Given the description of an element on the screen output the (x, y) to click on. 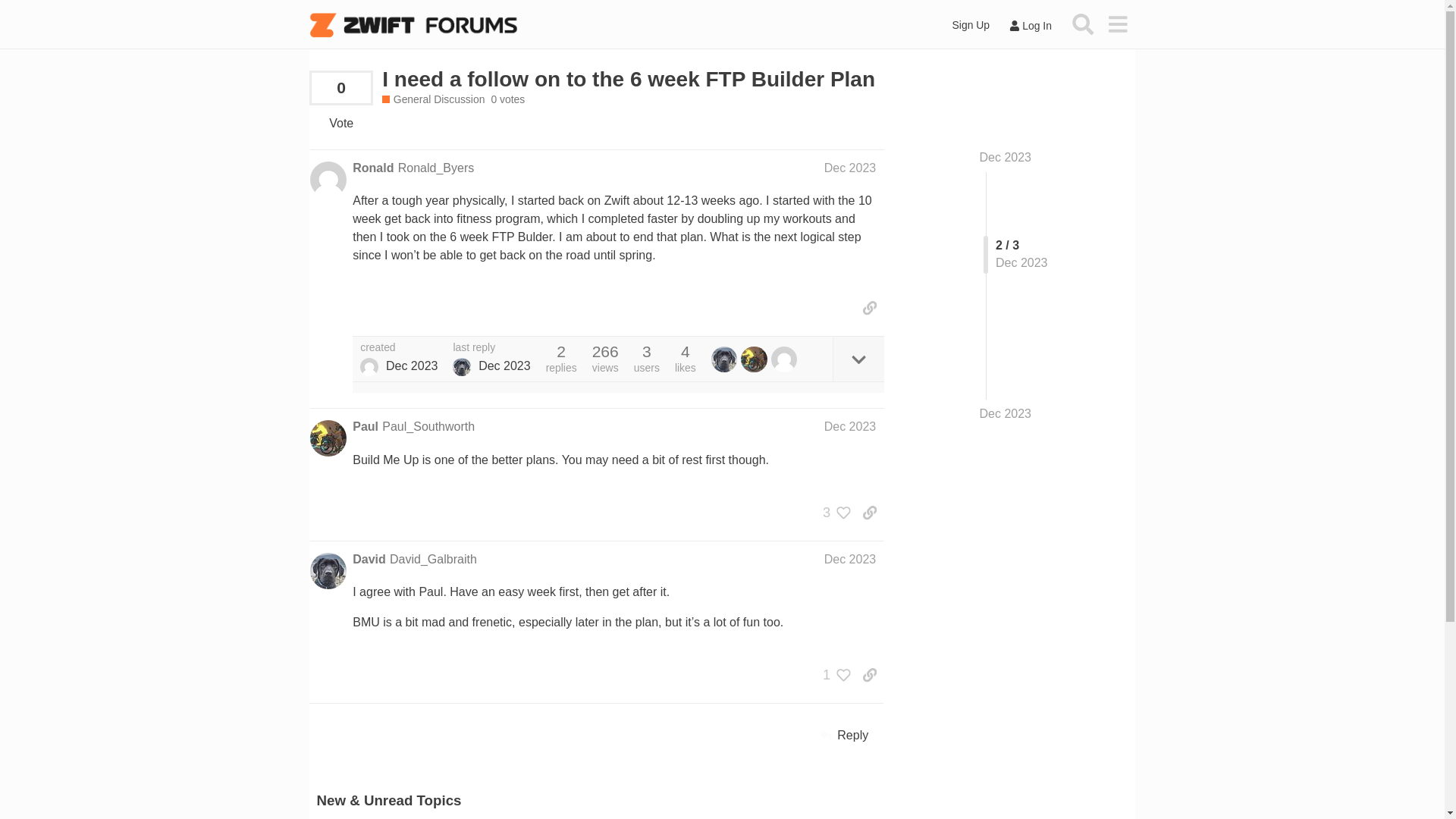
copy a link to this post to clipboard (869, 307)
last reply (490, 347)
Sign Up (969, 25)
Dec 2023 (850, 426)
1 (832, 674)
Vote (340, 123)
David (368, 559)
Ronald (368, 366)
Dec 2023 (850, 558)
Search (1082, 23)
Dec 2023 (1005, 413)
Sign Up (969, 25)
Ronald (372, 167)
Dec 2023 (850, 167)
